Given the description of an element on the screen output the (x, y) to click on. 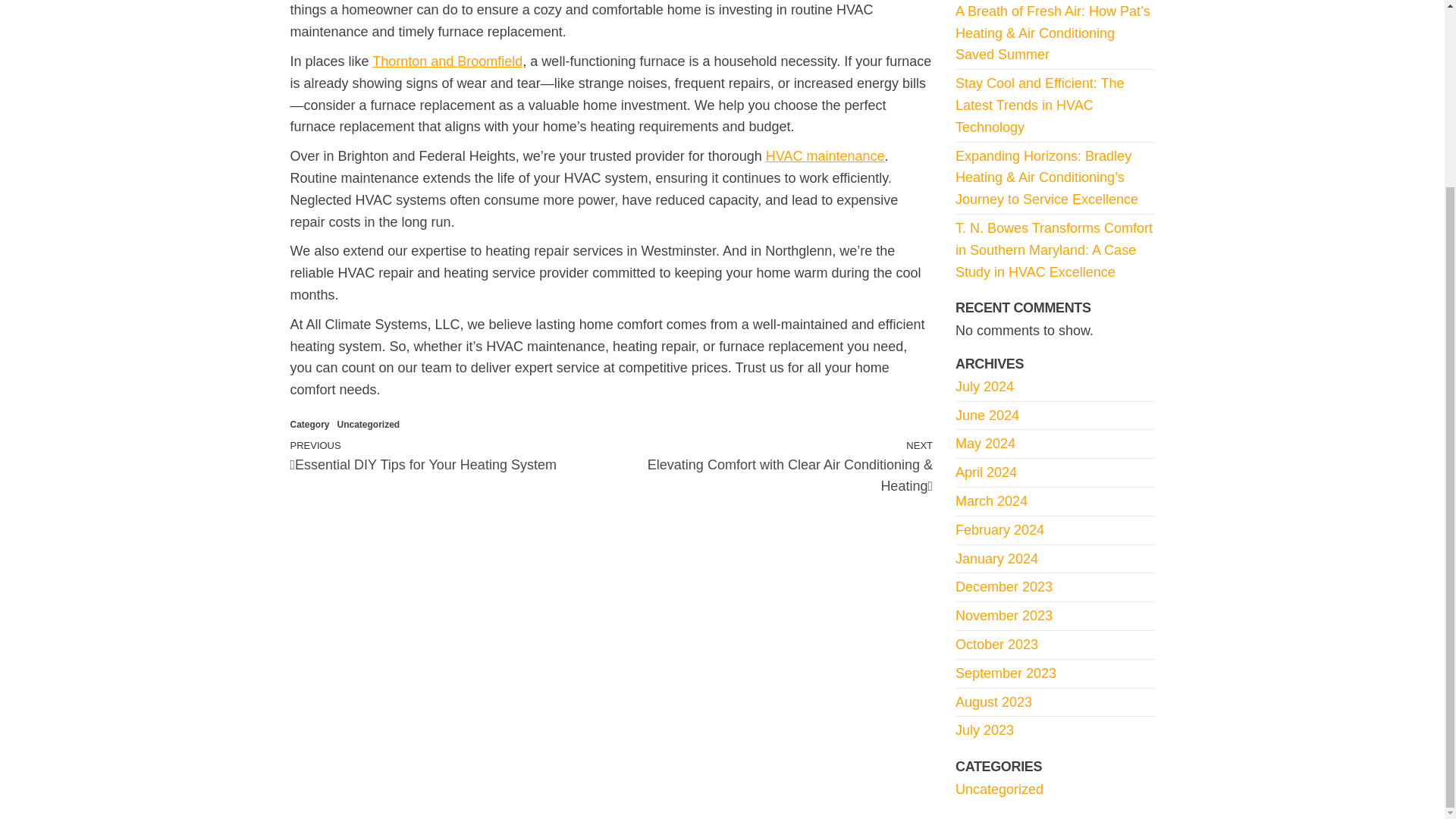
July 2023 (984, 729)
December 2023 (1003, 586)
Thornton and Broomfield (447, 61)
September 2023 (1006, 672)
Uncategorized (999, 789)
May 2024 (984, 443)
January 2024 (996, 558)
August 2023 (993, 702)
November 2023 (1003, 615)
October 2023 (996, 644)
July 2024 (984, 386)
March 2024 (991, 500)
Uncategorized (368, 424)
